Given the description of an element on the screen output the (x, y) to click on. 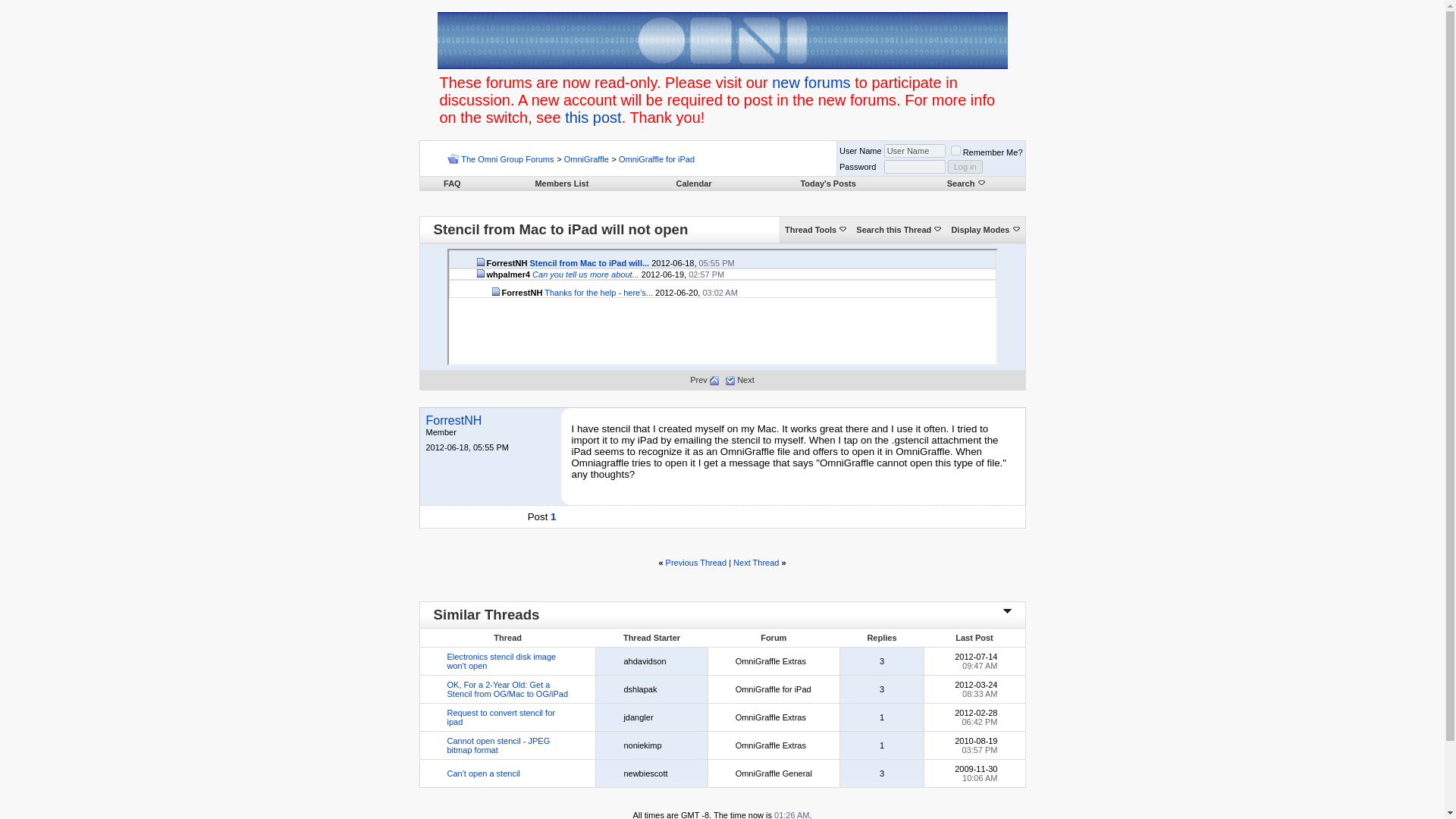
The Omni Group Forums (507, 158)
Members List (561, 183)
Go Back (452, 158)
ForrestNH (453, 420)
FAQ (452, 183)
